Given the description of an element on the screen output the (x, y) to click on. 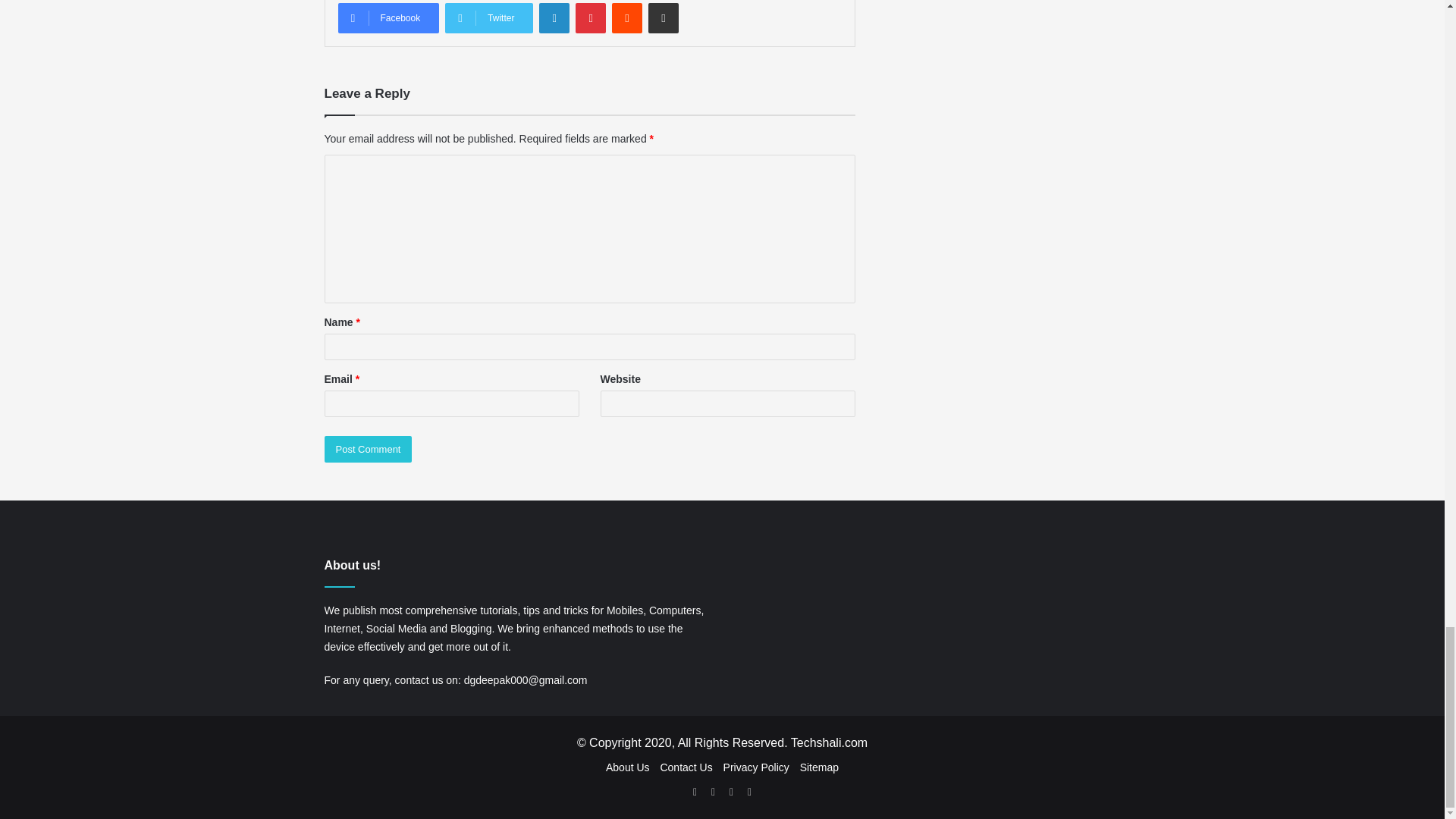
Pinterest (590, 18)
Facebook (388, 18)
Twitter (488, 18)
LinkedIn (553, 18)
Reddit (626, 18)
Twitter (488, 18)
Facebook (388, 18)
Pinterest (590, 18)
Share via Email (662, 18)
Reddit (626, 18)
